Given the description of an element on the screen output the (x, y) to click on. 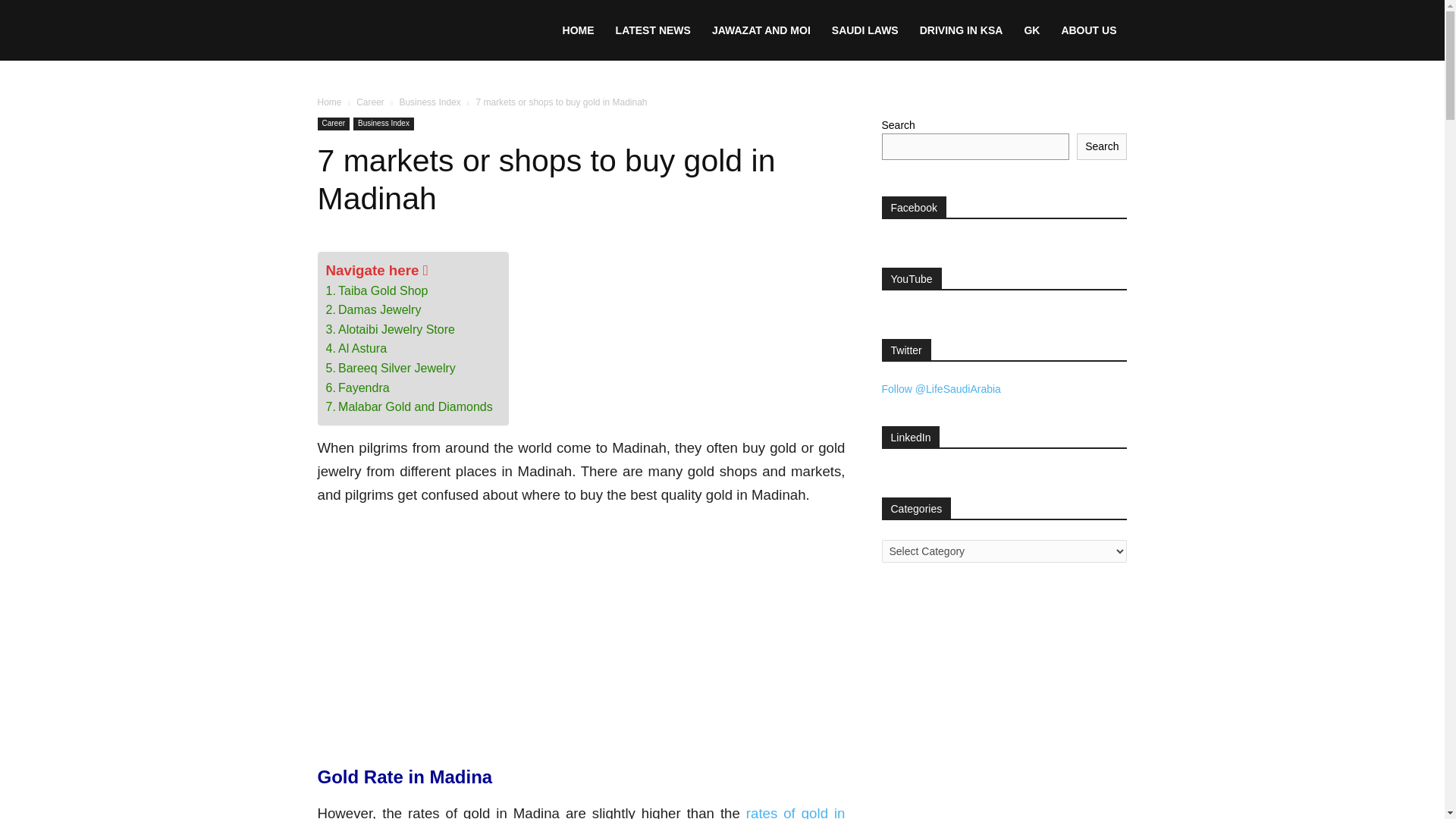
Taiba Gold Shop (377, 291)
Damas Jewelry (374, 310)
Business Index (429, 102)
View all posts in Career (370, 102)
Home (328, 102)
Alotaibi Jewelry Store (390, 329)
Fayendra (358, 388)
Business Index (383, 123)
rates of gold in Jeddah (580, 812)
View all posts in Business Index (429, 102)
